Given the description of an element on the screen output the (x, y) to click on. 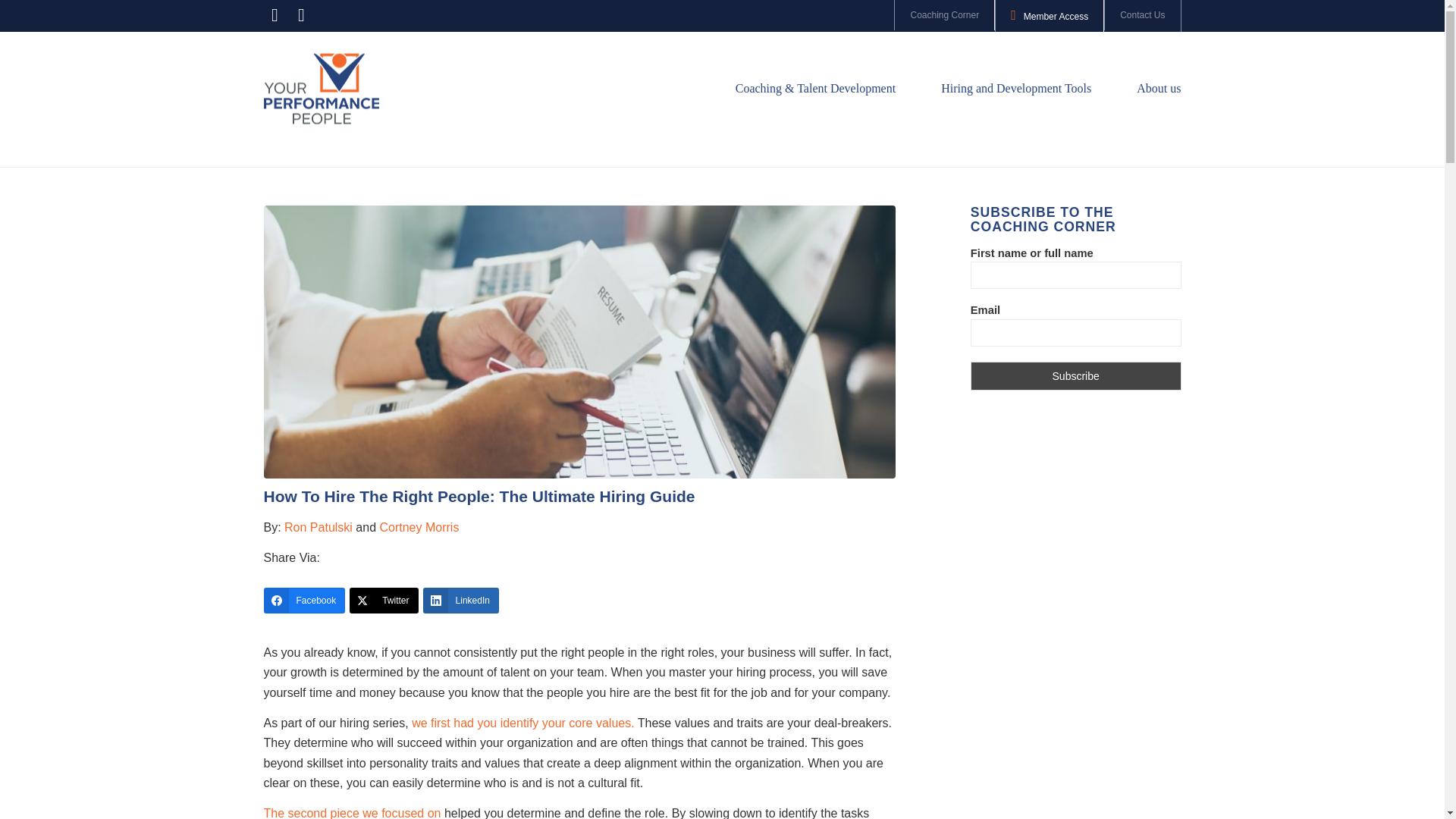
Coaching Corner (944, 14)
we first had you identify your core values. (522, 722)
Facebook (304, 600)
Ron Patulski (317, 526)
LinkedIn (461, 600)
logo (320, 88)
Member Access (1049, 16)
Hiring and Development Tools (1015, 88)
Subscribe (1075, 375)
